Given the description of an element on the screen output the (x, y) to click on. 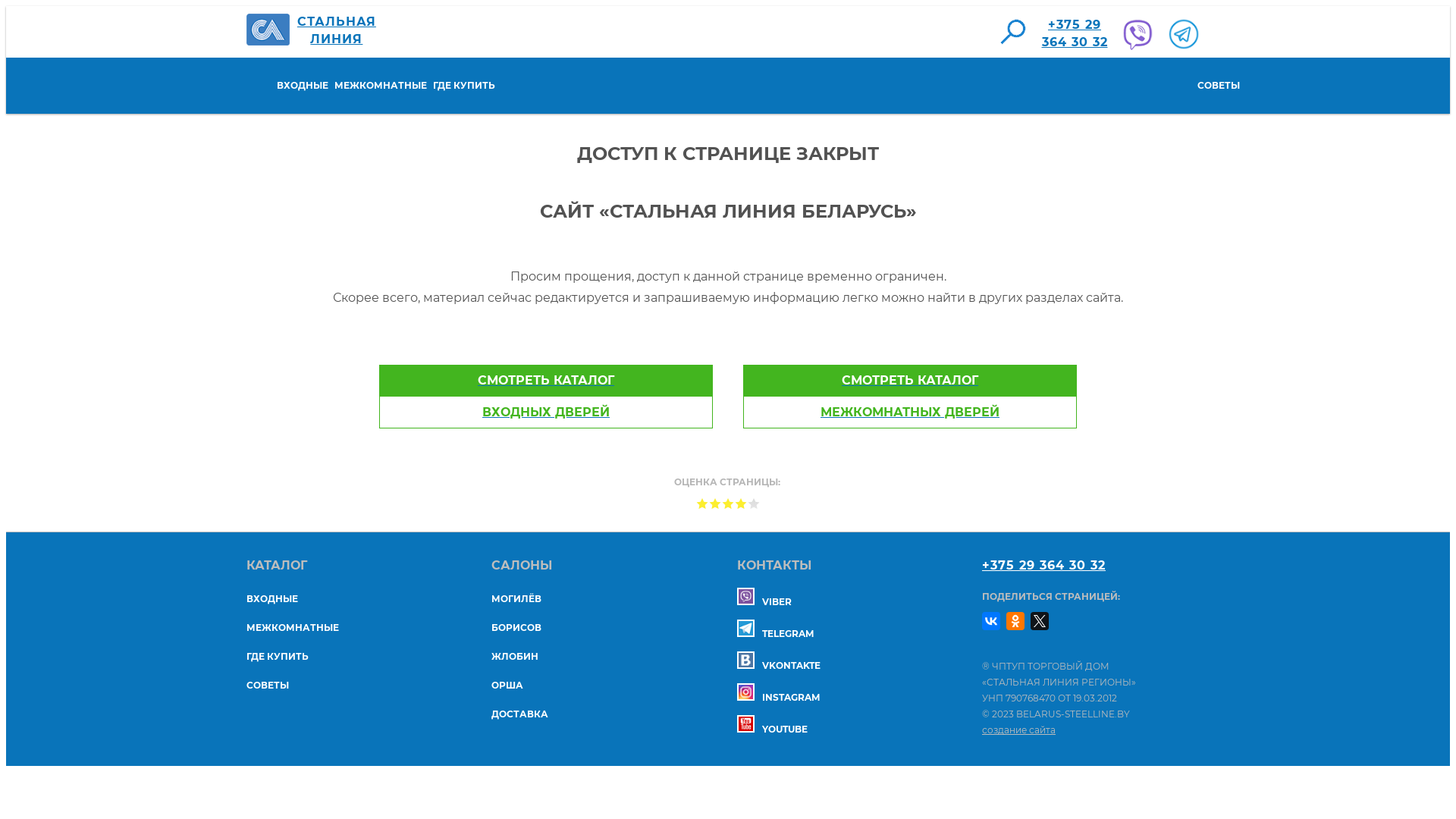
VIBER Element type: text (764, 601)
Telegram Element type: hover (1180, 34)
Viber Element type: hover (745, 596)
YouTube Element type: hover (745, 723)
INSTAGRAM Element type: text (778, 696)
Twitter Element type: hover (1039, 620)
Telegram Element type: hover (745, 628)
Instagram Element type: hover (745, 691)
VIBER Element type: hover (1135, 34)
VKONTAKTE Element type: text (778, 665)
+375 29 364 30 32 Element type: text (1043, 565)
TELEGRAM Element type: text (775, 633)
+375 29
364 30 32 Element type: text (1074, 33)
YOUTUBE Element type: text (772, 728)
